Given the description of an element on the screen output the (x, y) to click on. 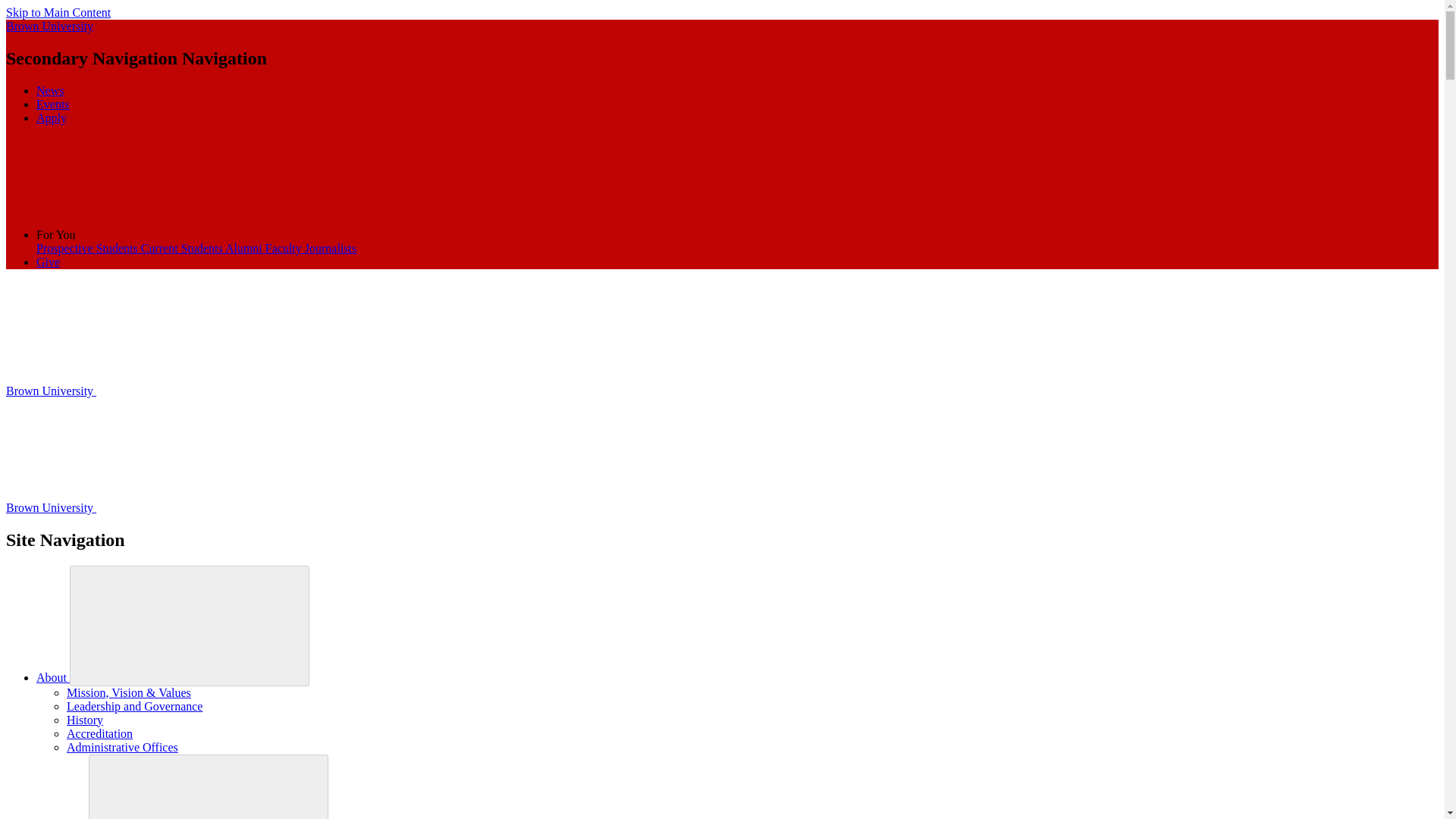
Faculty (284, 247)
Brown University (164, 507)
History (84, 719)
Administrative Offices (121, 747)
Apply (51, 117)
Brown University (49, 25)
Journalists (330, 247)
Skip to Main Content (57, 11)
Leadership and Governance (134, 706)
News (50, 90)
